Given the description of an element on the screen output the (x, y) to click on. 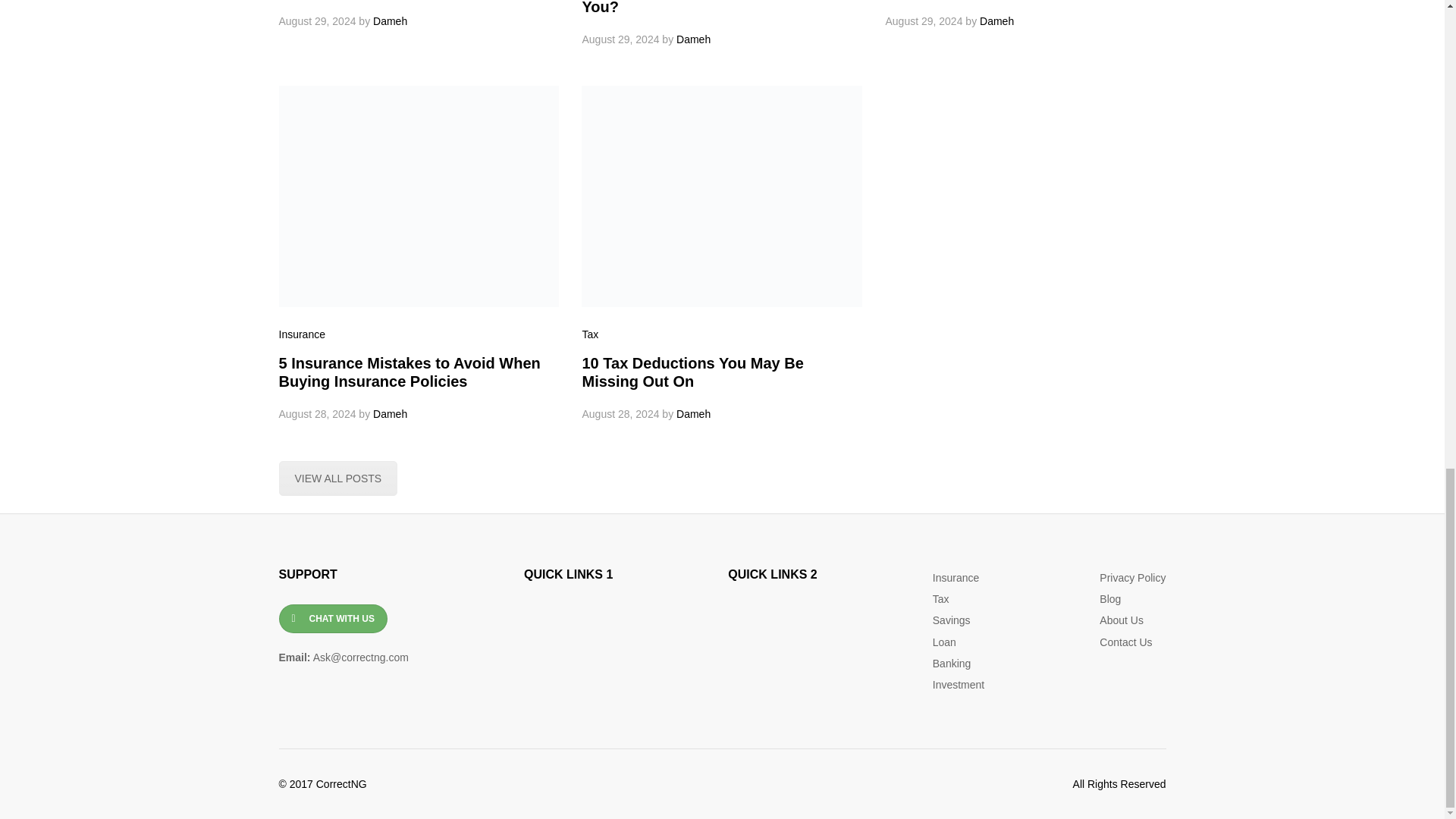
Dameh (389, 21)
CHAT US ON WHATSAPP (333, 618)
August 29, 2024 (317, 21)
